Given the description of an element on the screen output the (x, y) to click on. 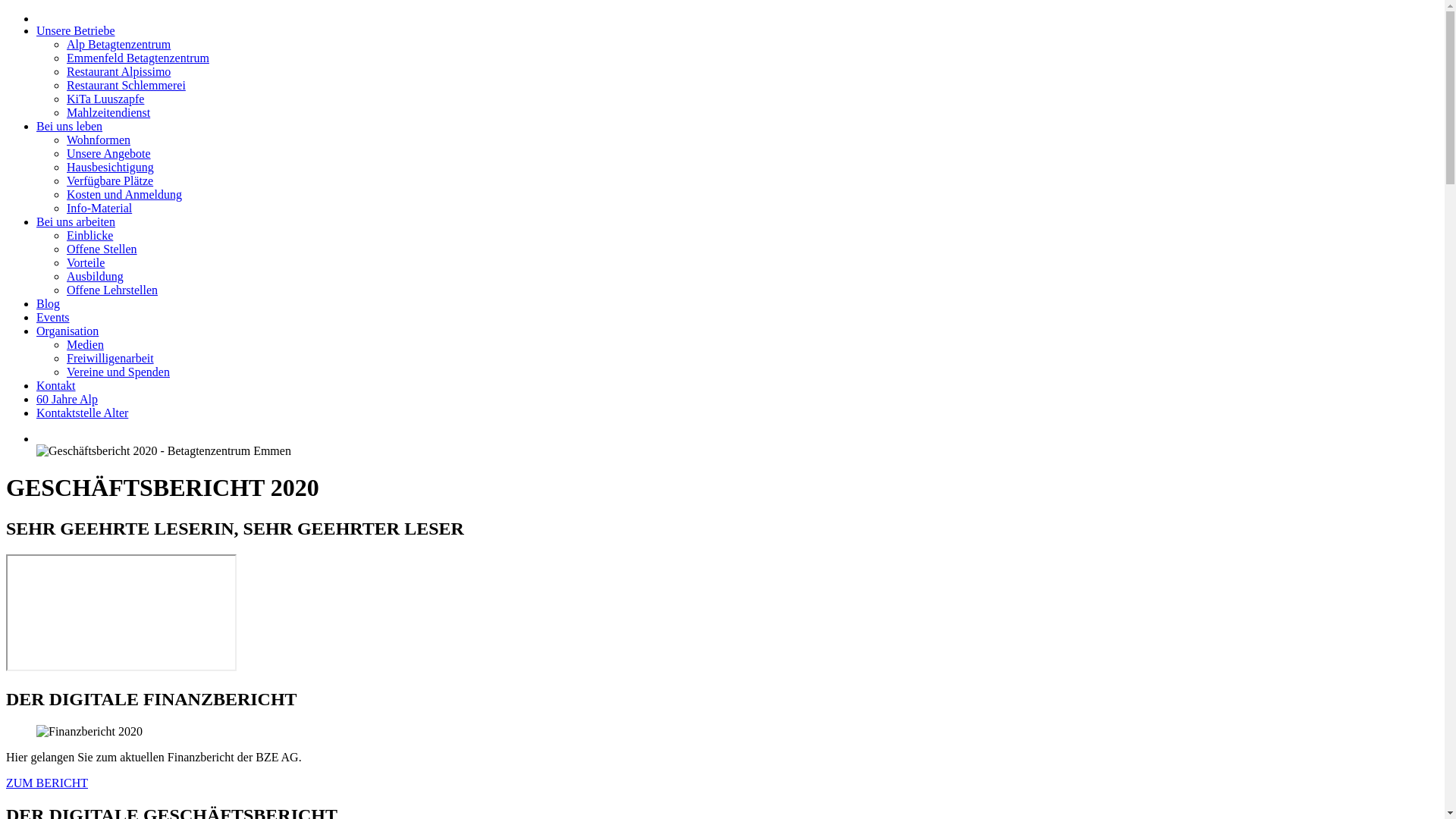
Restaurant Alpissimo Element type: text (118, 71)
Emmenfeld Betagtenzentrum Element type: text (137, 57)
Einblicke Element type: text (89, 235)
ZUM BERICHT Element type: text (46, 782)
Offene Lehrstellen Element type: text (111, 289)
KiTa Luuszapfe Element type: text (105, 98)
Unsere Angebote Element type: text (108, 153)
Vorteile Element type: text (85, 262)
Hausbesichtigung Element type: text (109, 166)
Bei uns arbeiten Element type: text (75, 221)
Alp Betagtenzentrum Element type: text (118, 43)
Restaurant Schlemmerei Element type: text (125, 84)
Offene Stellen Element type: text (101, 248)
Blog Element type: text (47, 303)
Info-Material Element type: text (98, 207)
Kosten und Anmeldung Element type: text (124, 194)
Ausbildung Element type: text (94, 275)
Vereine und Spenden Element type: text (117, 371)
60 Jahre Alp Element type: text (66, 398)
Unsere Betriebe Element type: text (75, 30)
Events Element type: text (52, 316)
Freiwilligenarbeit Element type: text (109, 357)
Medien Element type: text (84, 344)
Kontaktstelle Alter Element type: text (82, 412)
Kontakt Element type: text (55, 385)
Mahlzeitendienst Element type: text (108, 112)
Wohnformen Element type: text (98, 139)
Bei uns leben Element type: text (69, 125)
Organisation Element type: text (67, 330)
